Given the description of an element on the screen output the (x, y) to click on. 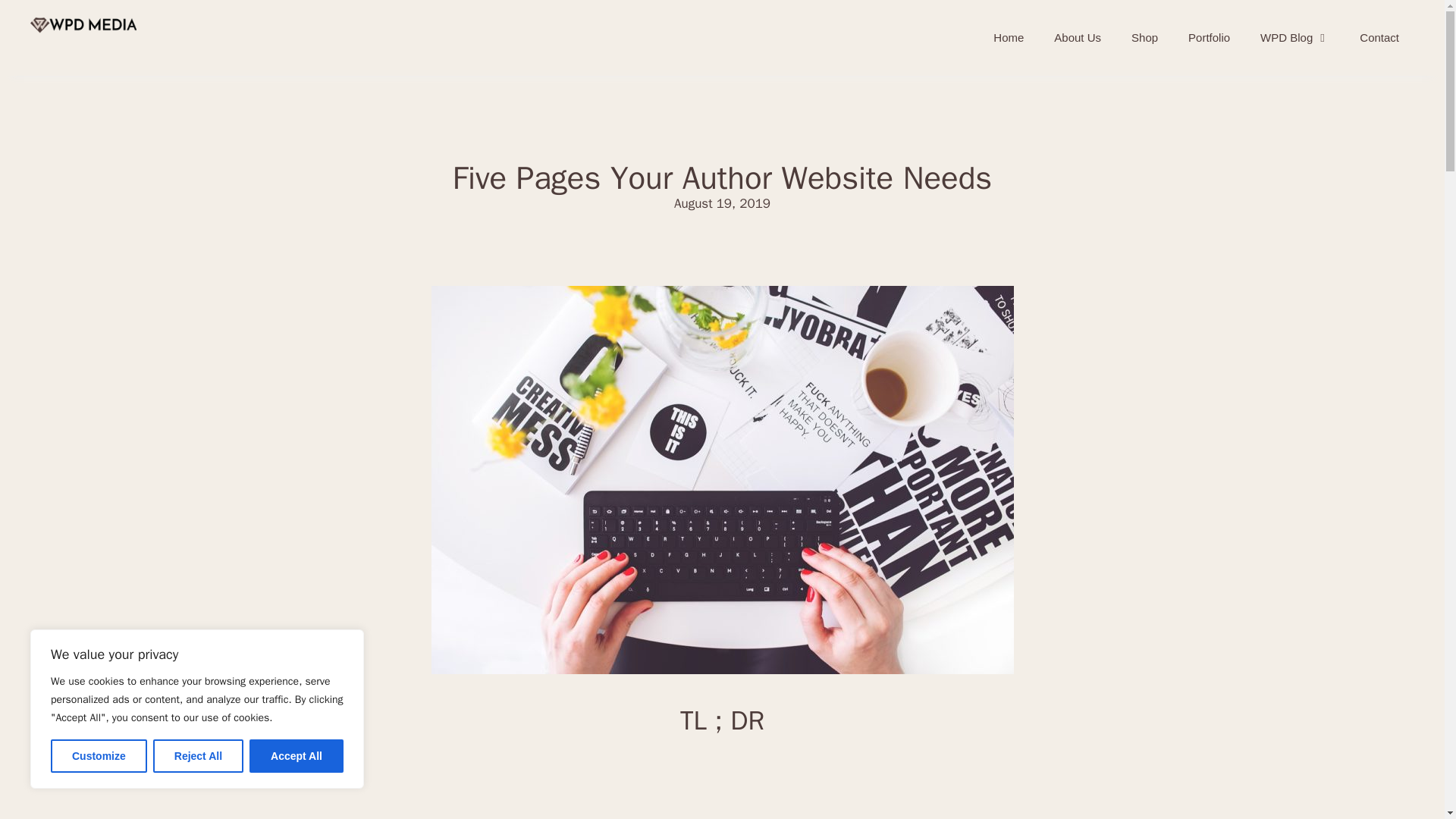
Reject All (197, 756)
Home (1008, 37)
Accept All (295, 756)
About Us (1077, 37)
WPD Blog (1293, 37)
Customize (98, 756)
Portfolio (1208, 37)
Contact (1378, 37)
Shop (1144, 37)
